Given the description of an element on the screen output the (x, y) to click on. 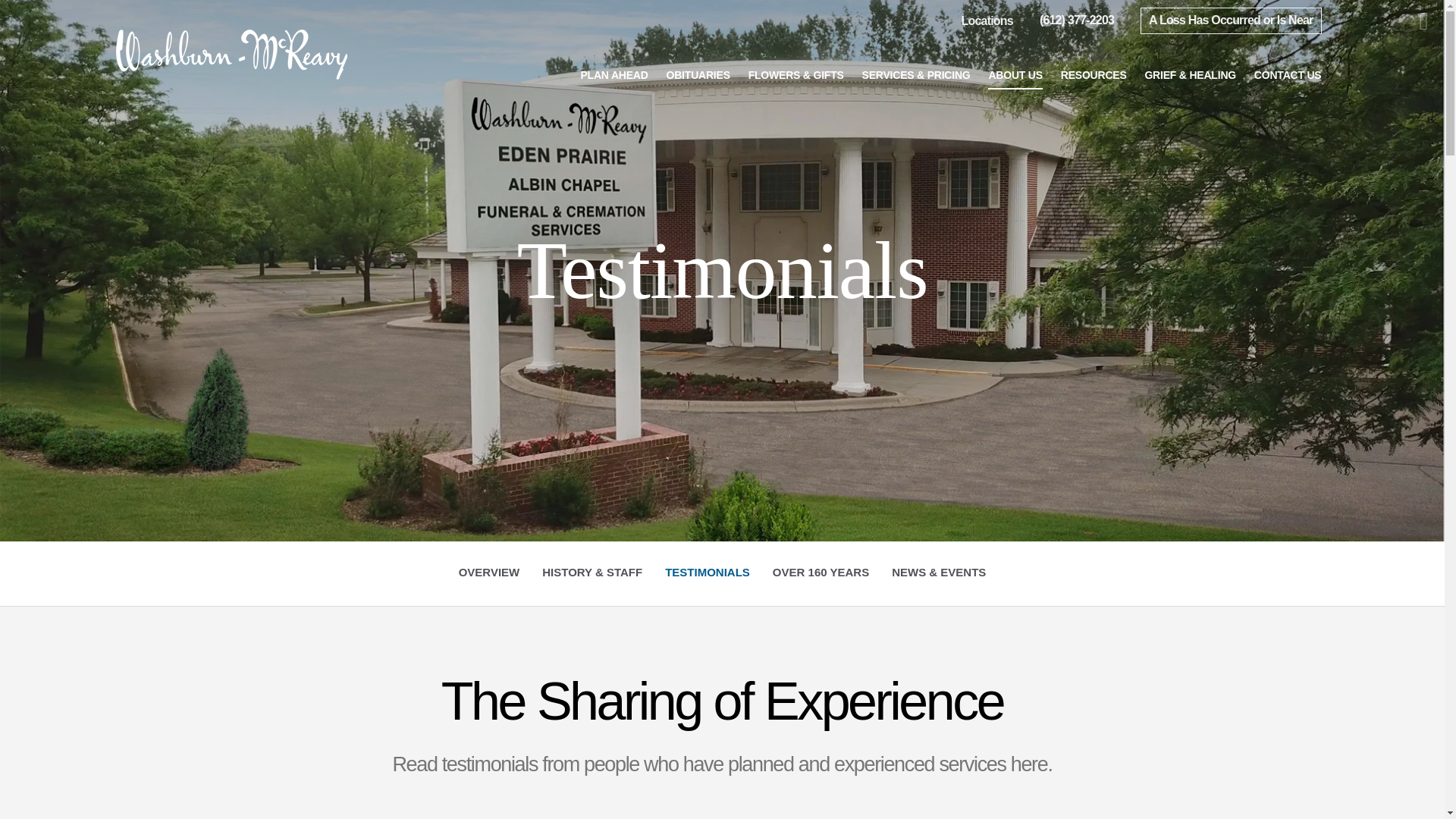
RESOURCES (1093, 74)
CONTACT US (1287, 74)
OBITUARIES (698, 74)
Skip to content (707, 573)
A Loss Has Occurred or Is Near (32, 15)
ABOUT US (1230, 20)
Locations (1014, 74)
PLAN AHEAD (986, 21)
